Given the description of an element on the screen output the (x, y) to click on. 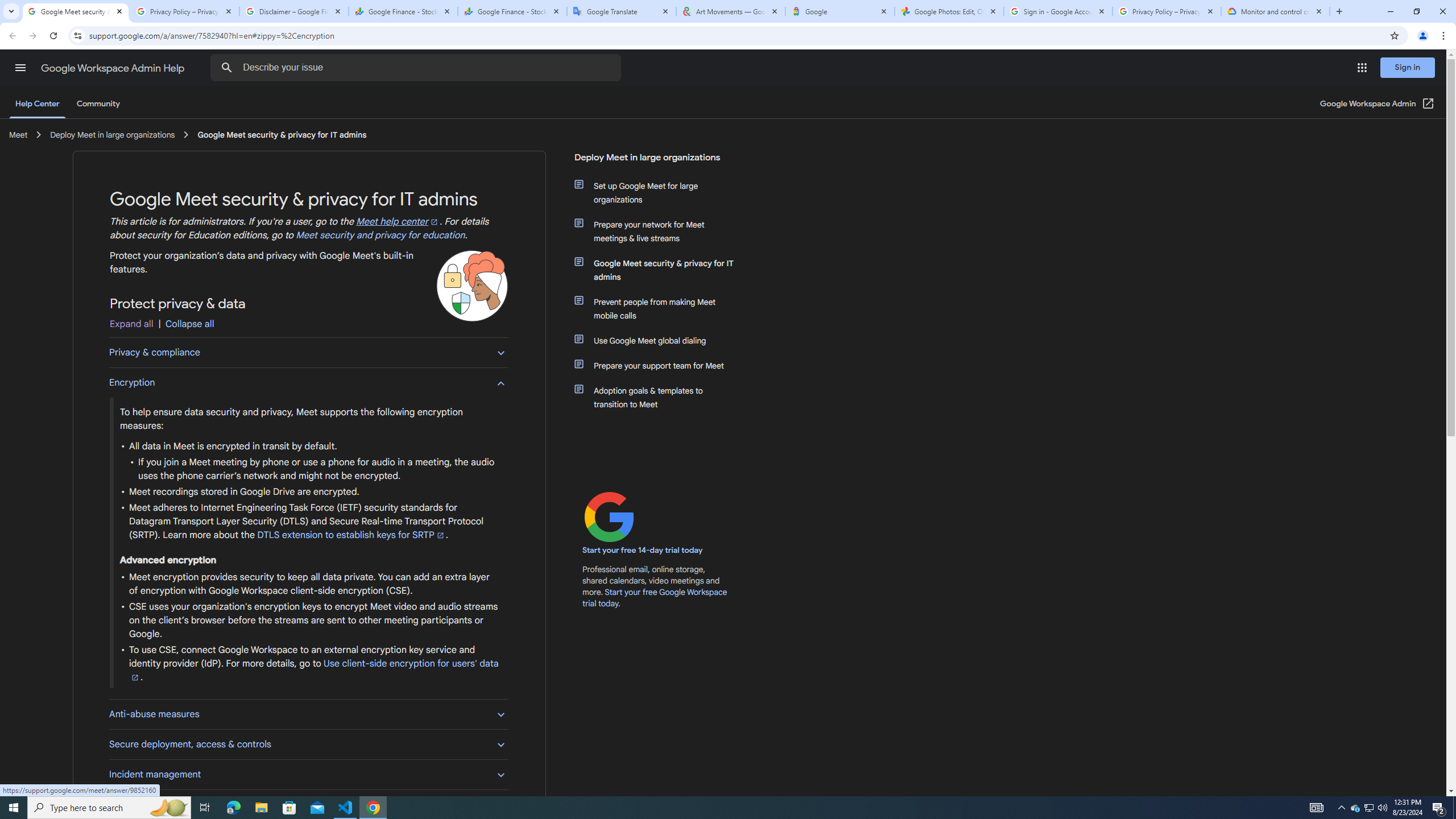
Prepare your network for Meet meetings & live streams (661, 231)
Describe your issue (417, 67)
Sign in - Google Accounts (1058, 11)
Deploy Meet in large organizations (656, 161)
Secure deployment, access & controls (308, 743)
